Given the description of an element on the screen output the (x, y) to click on. 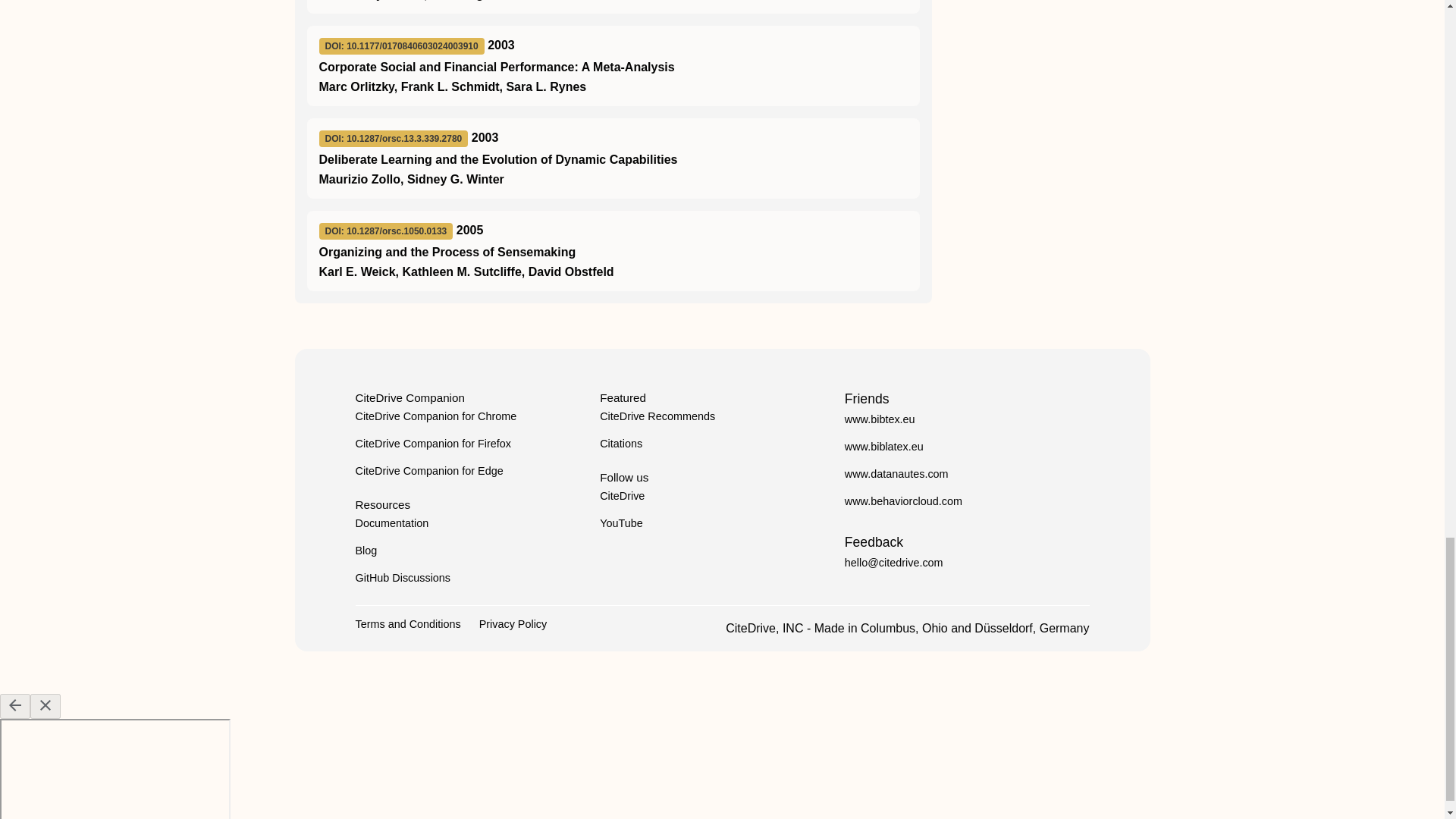
Blog (366, 550)
www.bibtex.eu (879, 419)
CiteDrive Recommends (656, 416)
Documentation (391, 522)
GitHub Discussions (402, 577)
CiteDrive Companion for Edge (428, 470)
YouTube (621, 522)
www.biblatex.eu (883, 446)
CiteDrive Companion for Firefox (433, 443)
Citations (620, 443)
